Given the description of an element on the screen output the (x, y) to click on. 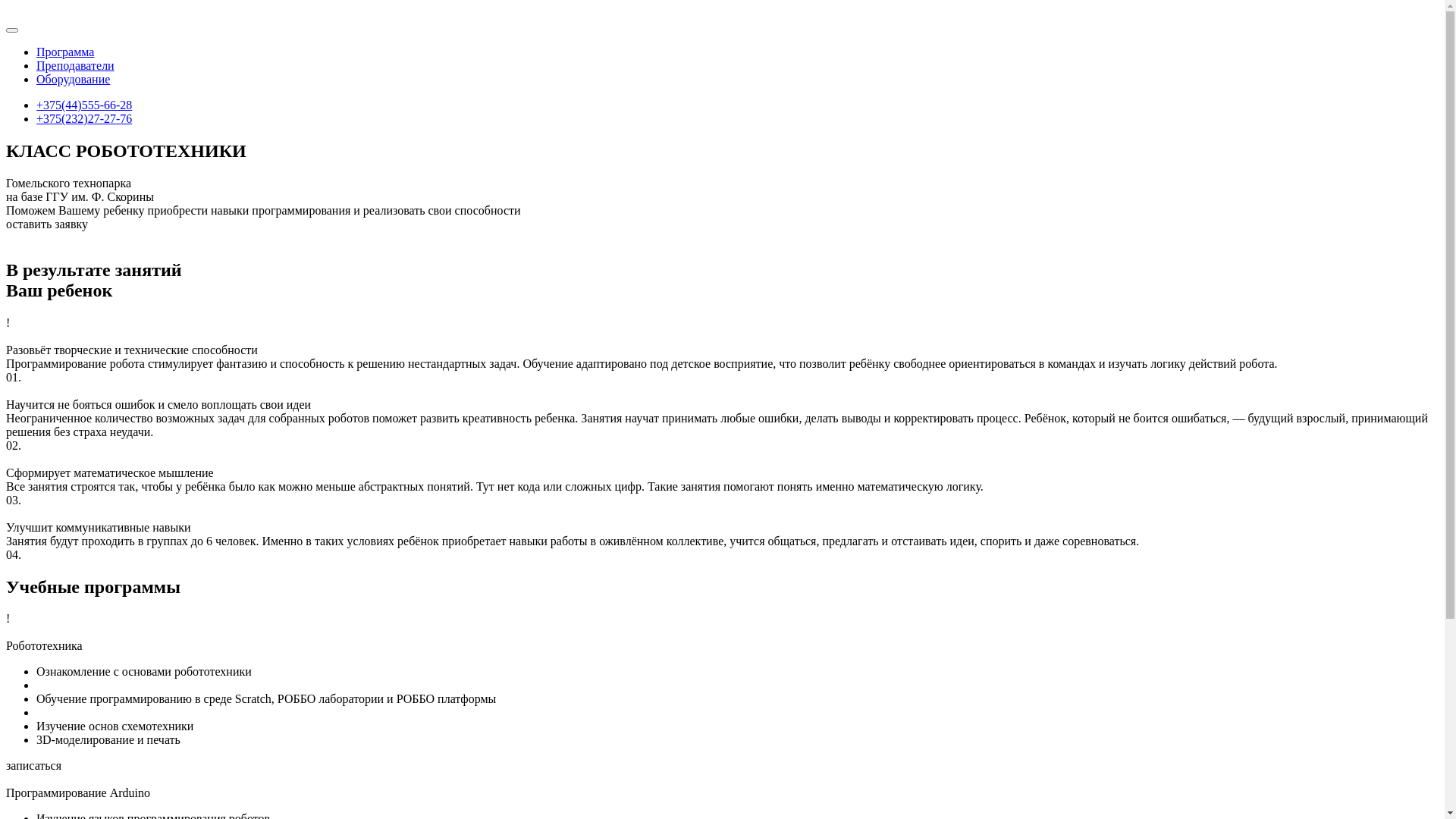
! Element type: text (722, 618)
! Element type: text (722, 322)
+375(232)27-27-76 Element type: text (83, 118)
+375(44)555-66-28 Element type: text (83, 104)
